Given the description of an element on the screen output the (x, y) to click on. 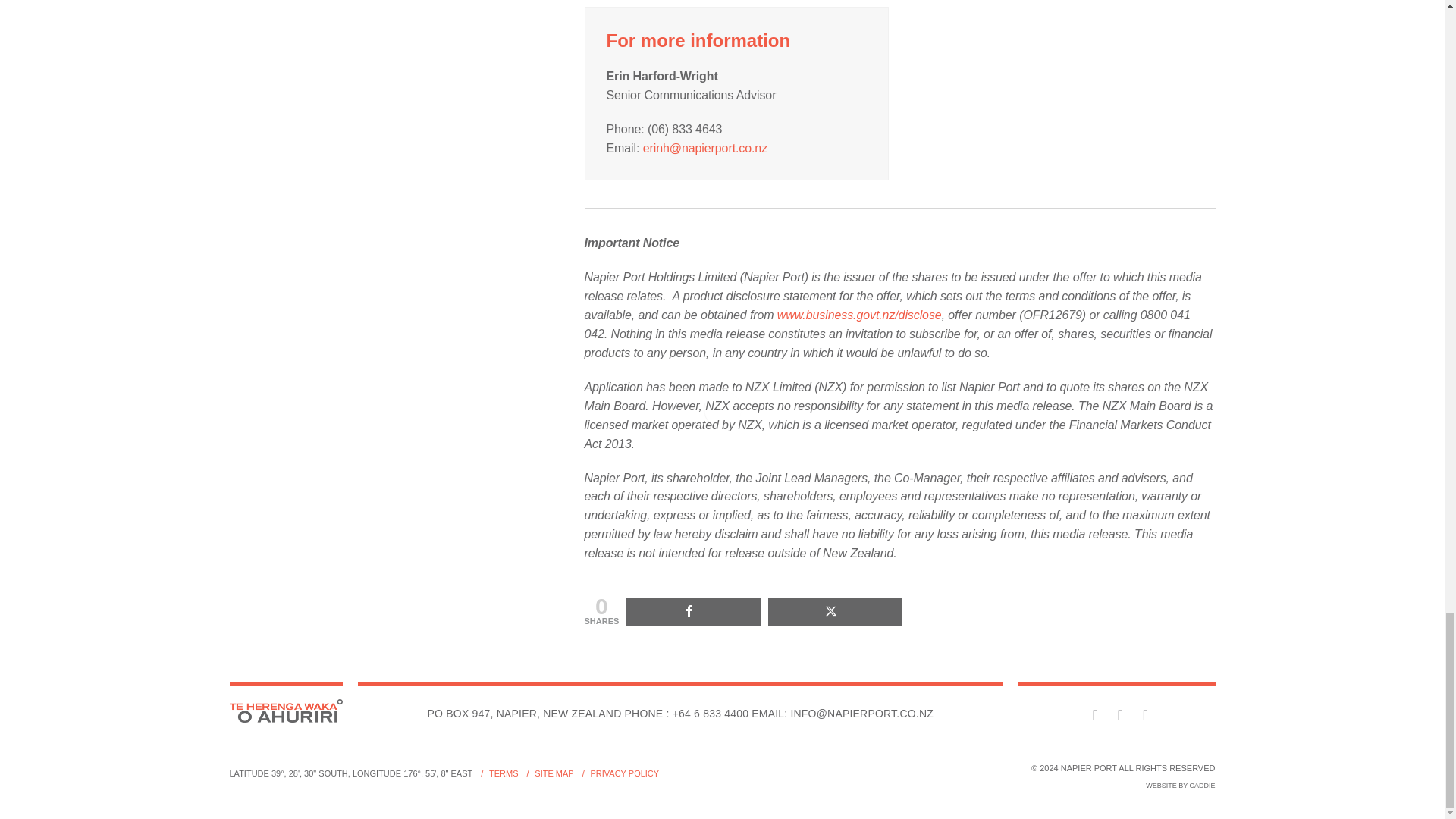
Mail Us (842, 713)
terms (503, 773)
Privacy Policy (624, 773)
Contact US (710, 713)
SITE MAP (553, 773)
